Given the description of an element on the screen output the (x, y) to click on. 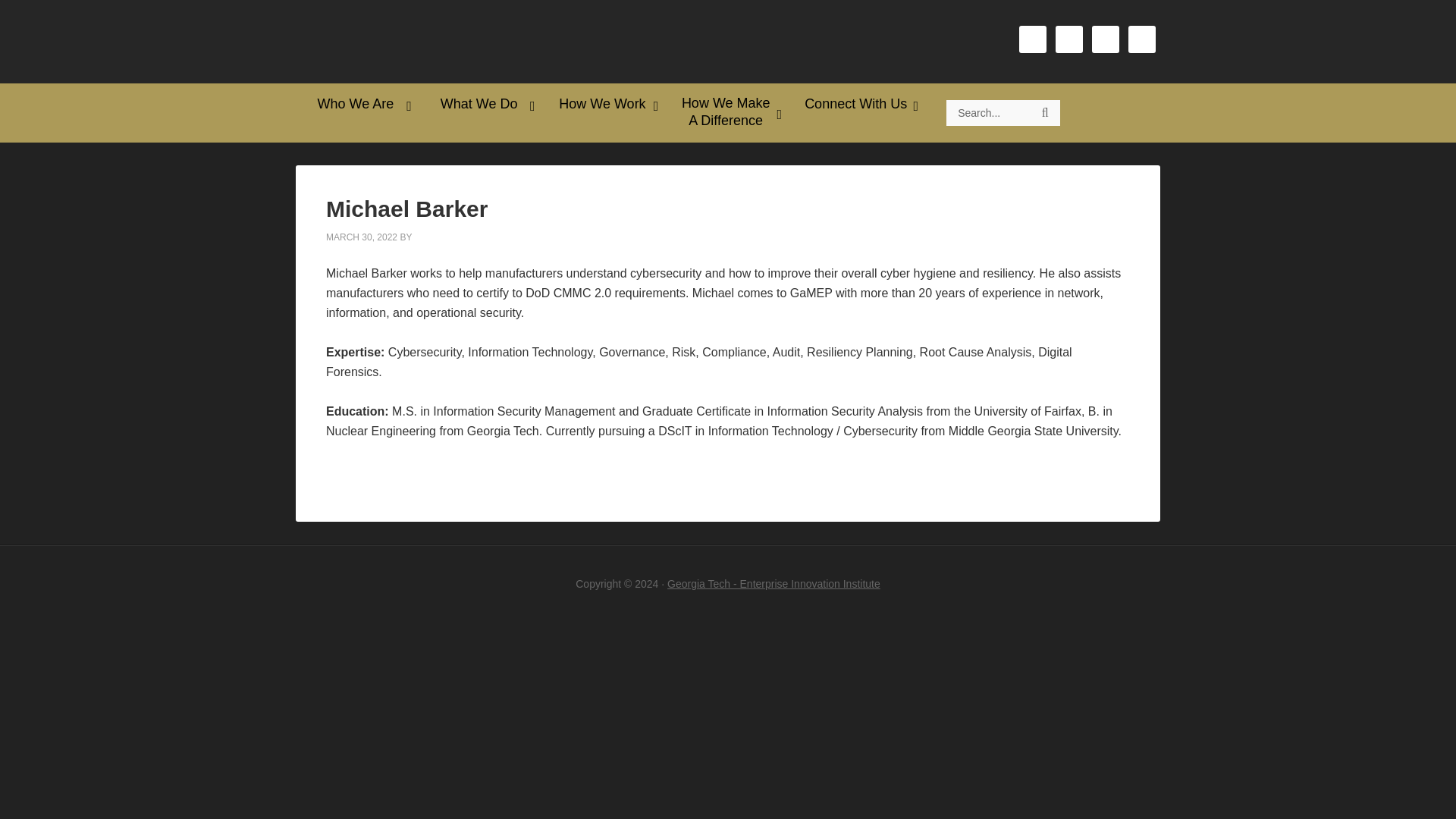
How We Work (604, 103)
Who We Are (357, 103)
Georgia Tech - Enterprise Innovation Institute (773, 583)
How We Make A Difference (727, 112)
What We Do (481, 103)
Connect With Us (857, 103)
